Given the description of an element on the screen output the (x, y) to click on. 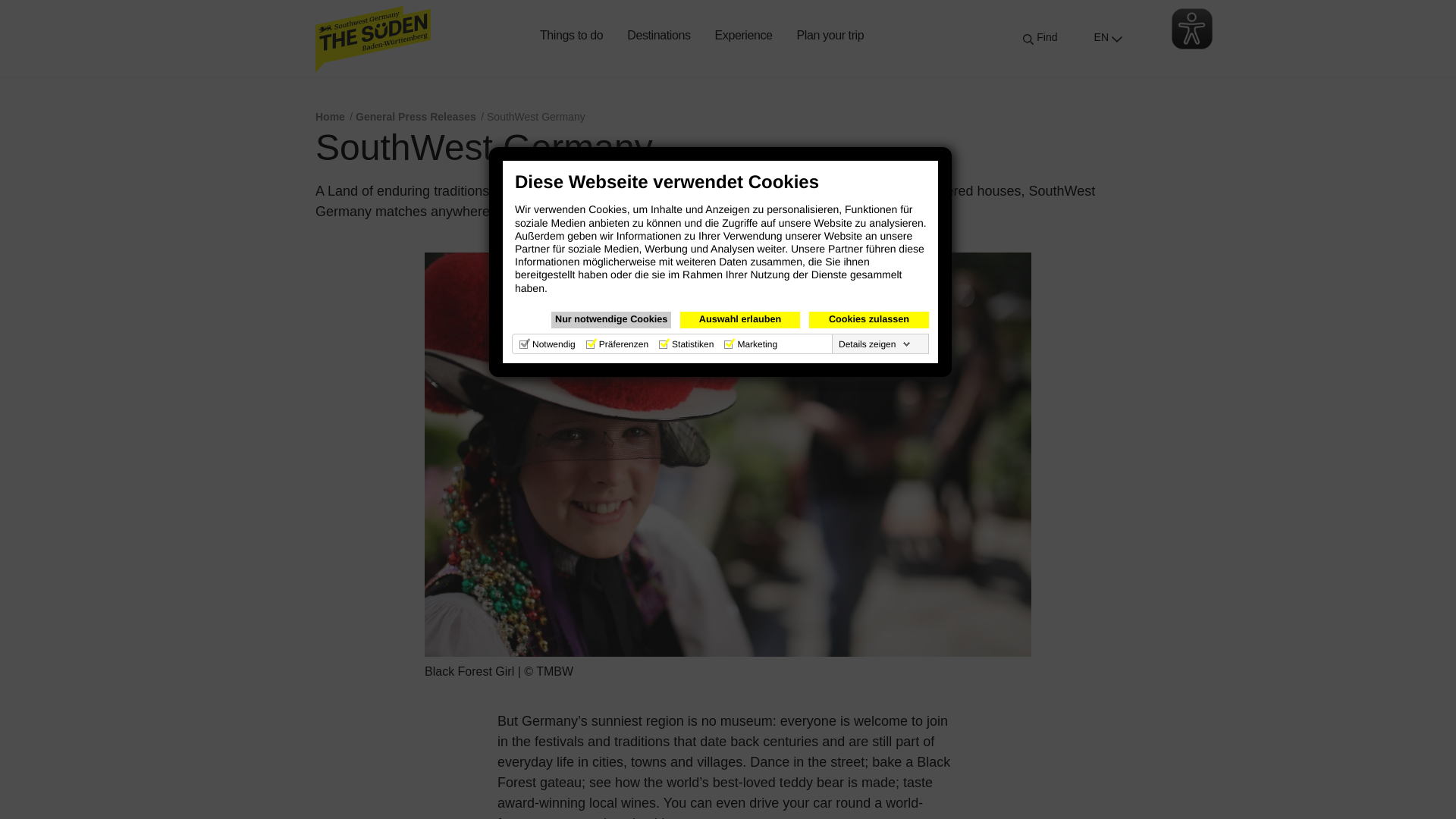
Auswahl erlauben (739, 320)
Cookies zulassen (868, 320)
Details zeigen (874, 344)
Nur notwendige Cookies (611, 320)
